Given the description of an element on the screen output the (x, y) to click on. 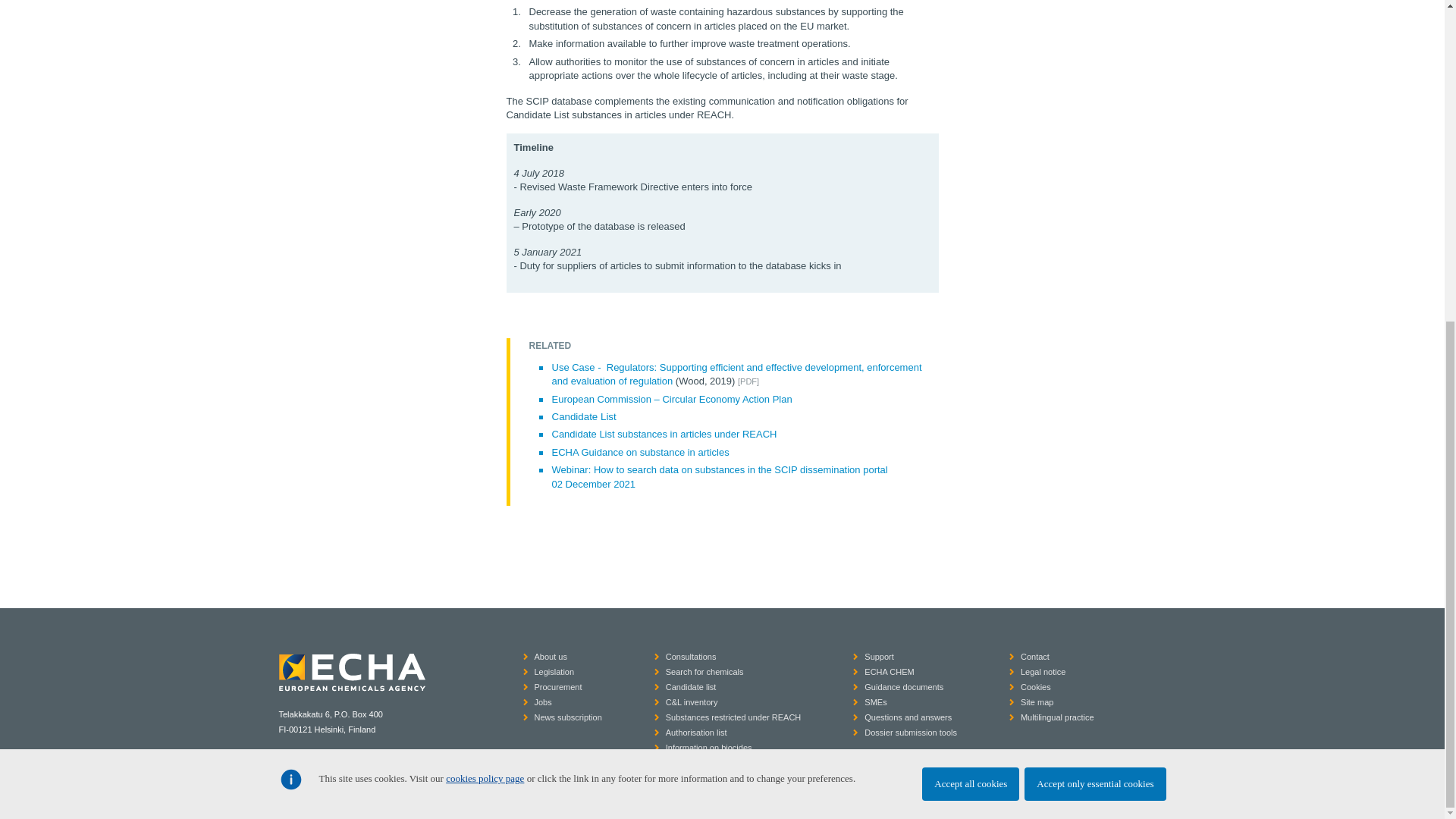
Accept all cookies (970, 261)
cookies policy page (484, 255)
Accept only essential cookies (1095, 261)
